Given the description of an element on the screen output the (x, y) to click on. 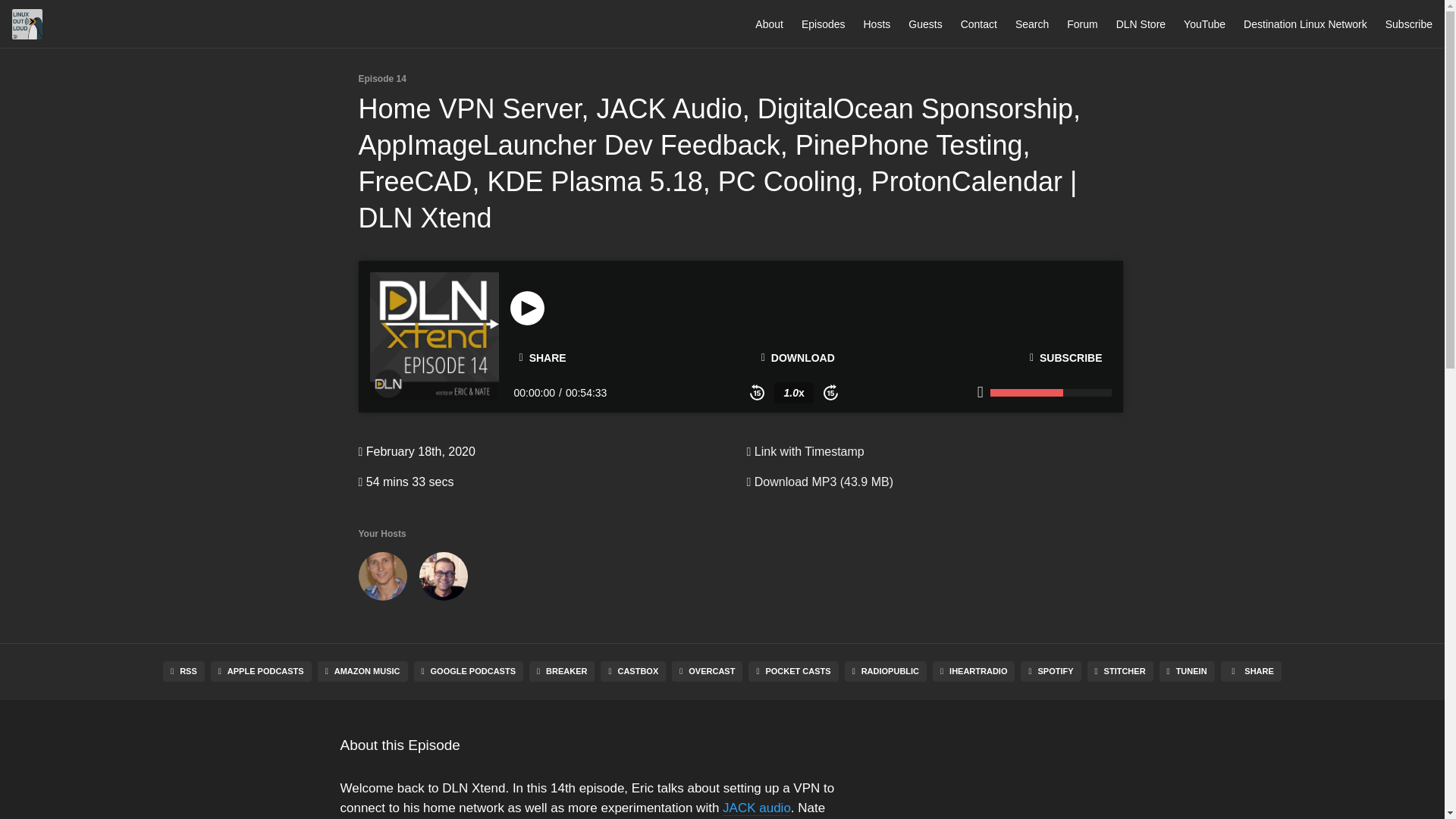
YouTube (1204, 24)
About (769, 24)
AMAZON MUSIC (362, 670)
CASTBOX (632, 670)
Destination Linux Network (1305, 24)
RADIOPUBLIC (885, 670)
Search (1031, 24)
Nathan Wolf (382, 579)
BREAKER (561, 670)
POCKET CASTS (793, 670)
RSS (184, 670)
Subscribe (1409, 24)
Contact (978, 24)
SHARE (542, 357)
Link with Timestamp (804, 451)
